Given the description of an element on the screen output the (x, y) to click on. 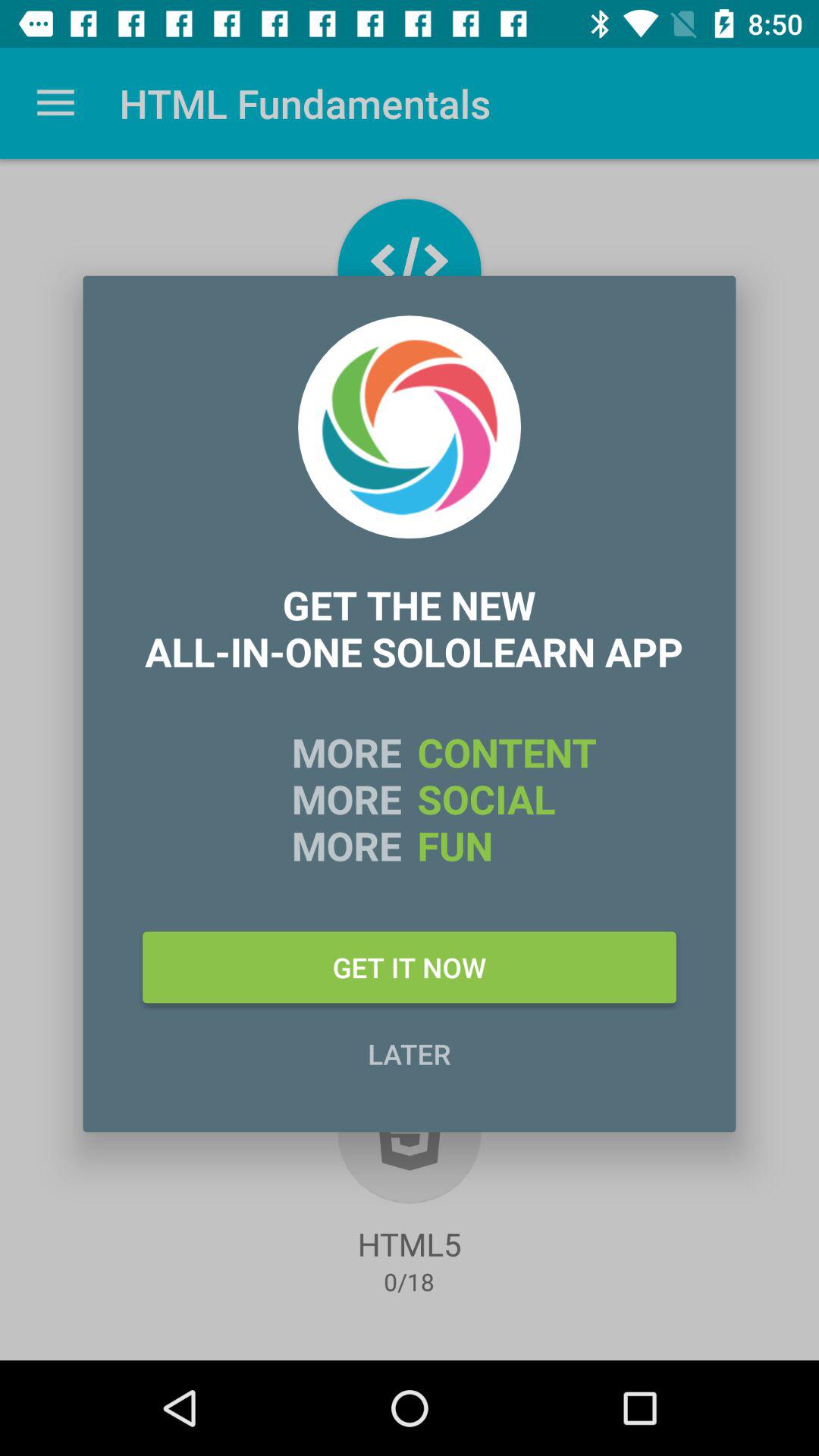
click later icon (409, 1053)
